Given the description of an element on the screen output the (x, y) to click on. 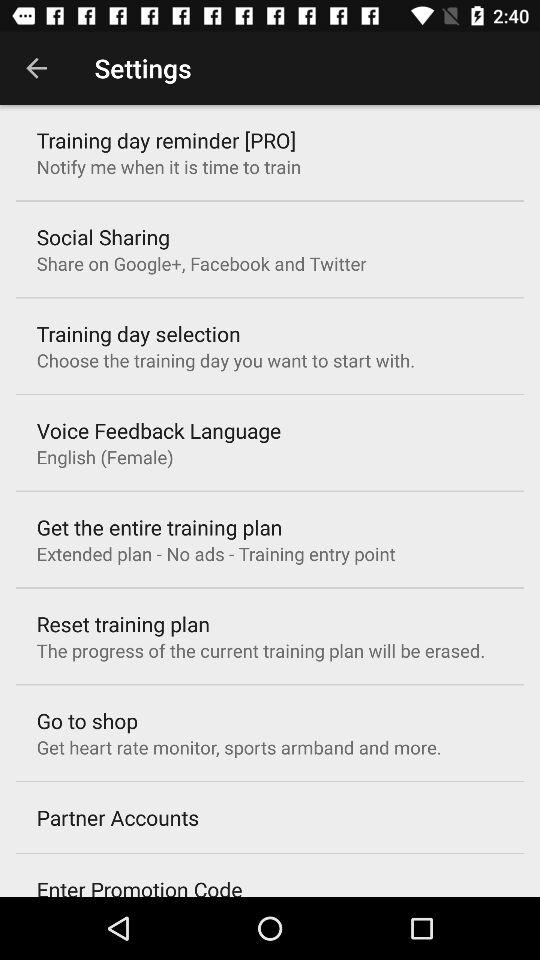
swipe to extended plan no item (215, 553)
